Given the description of an element on the screen output the (x, y) to click on. 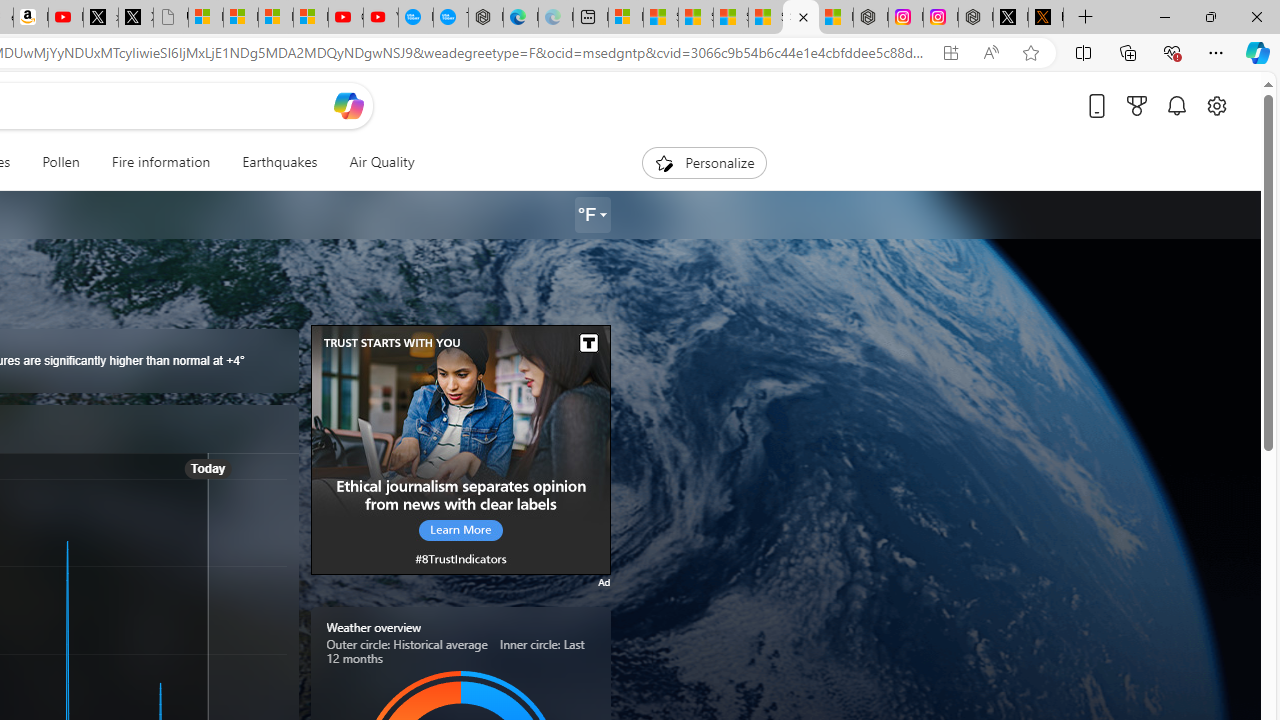
Weather settings (591, 215)
Pollen (60, 162)
Fire information (160, 162)
